Given the description of an element on the screen output the (x, y) to click on. 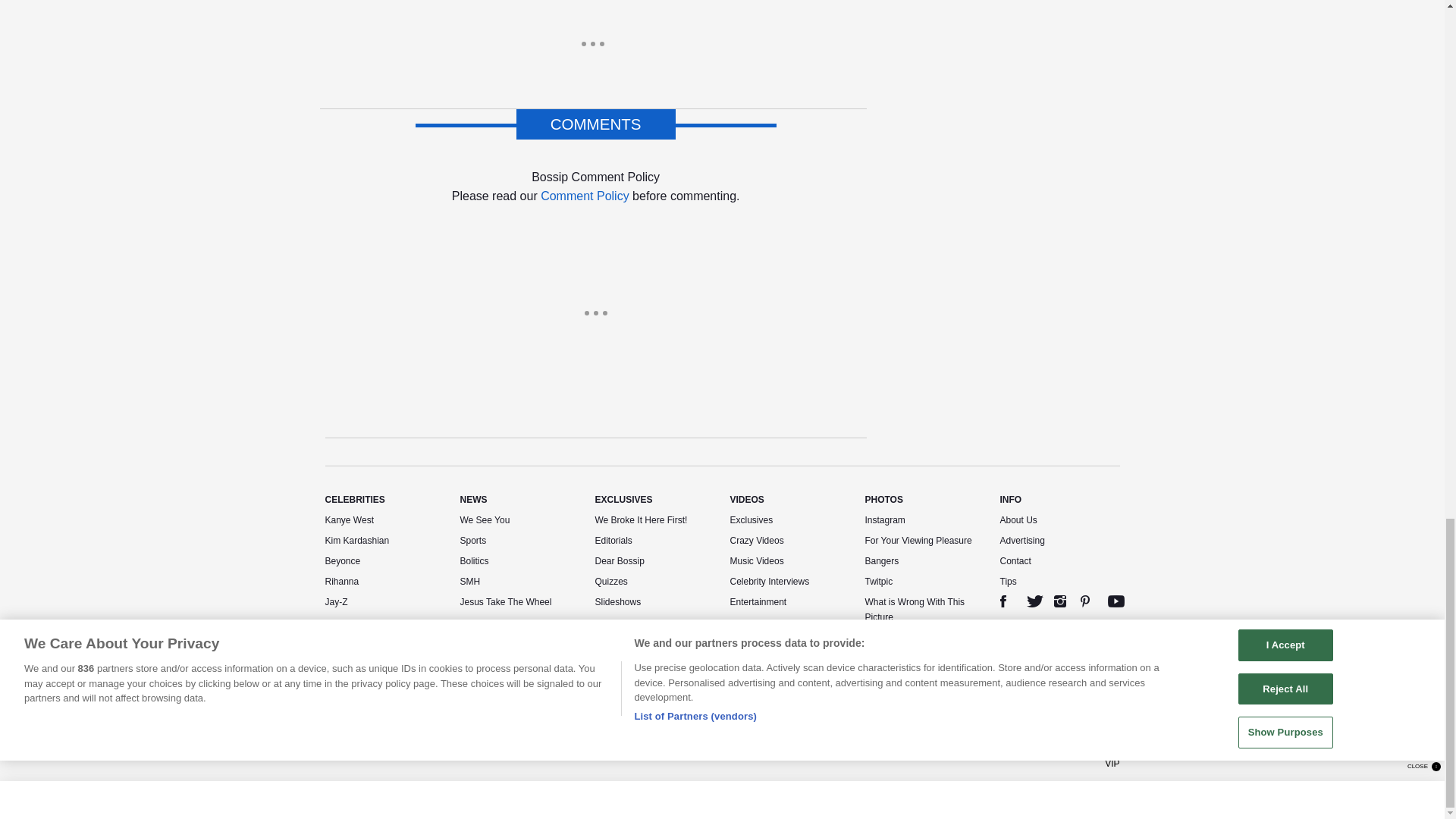
Subscribe to Bossip on YouTube (1116, 601)
Follow Bossip on Twitter (1034, 601)
Follow Bossip on Instagram (1059, 601)
